Given the description of an element on the screen output the (x, y) to click on. 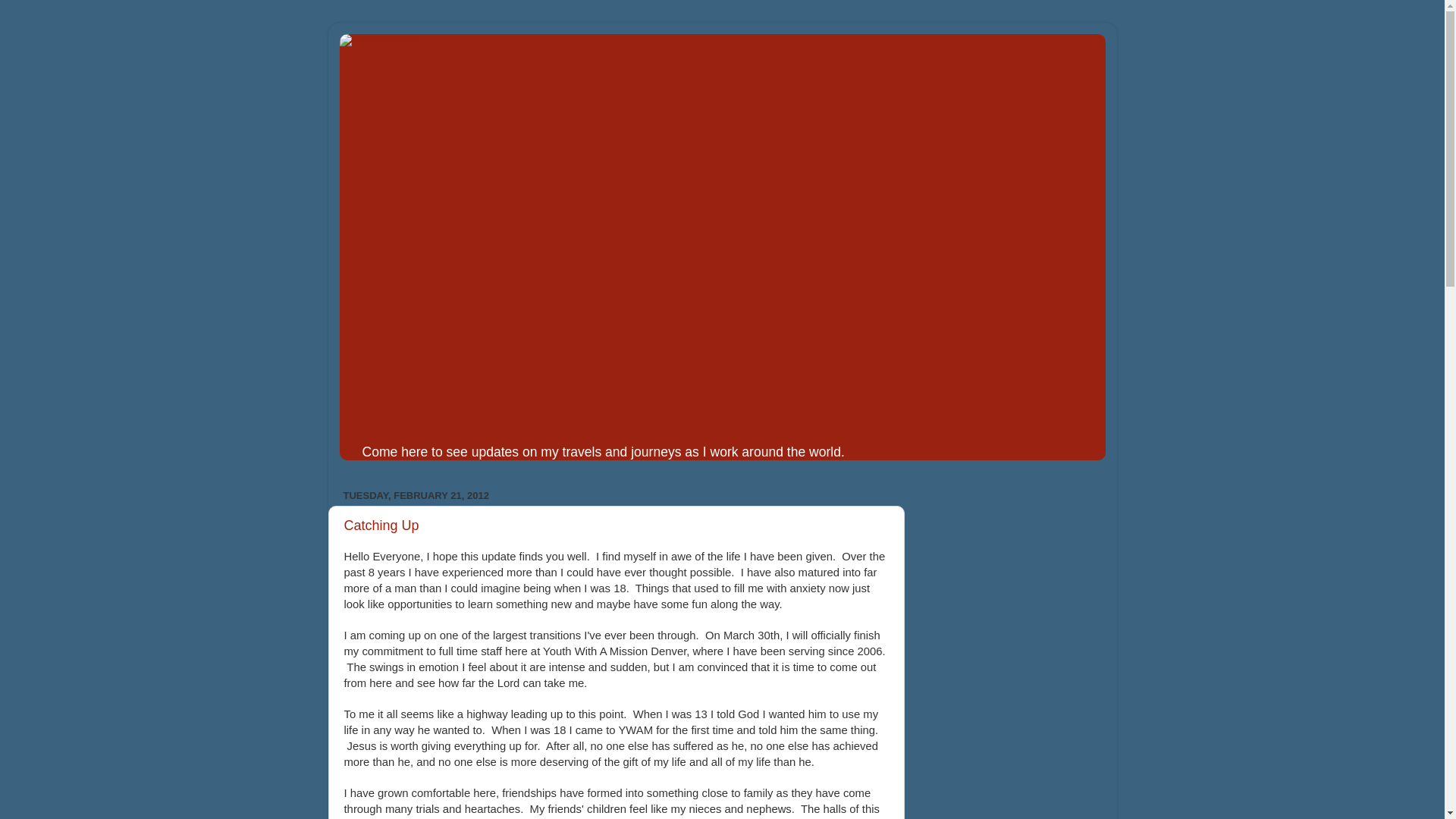
Catching Up (381, 525)
